Given the description of an element on the screen output the (x, y) to click on. 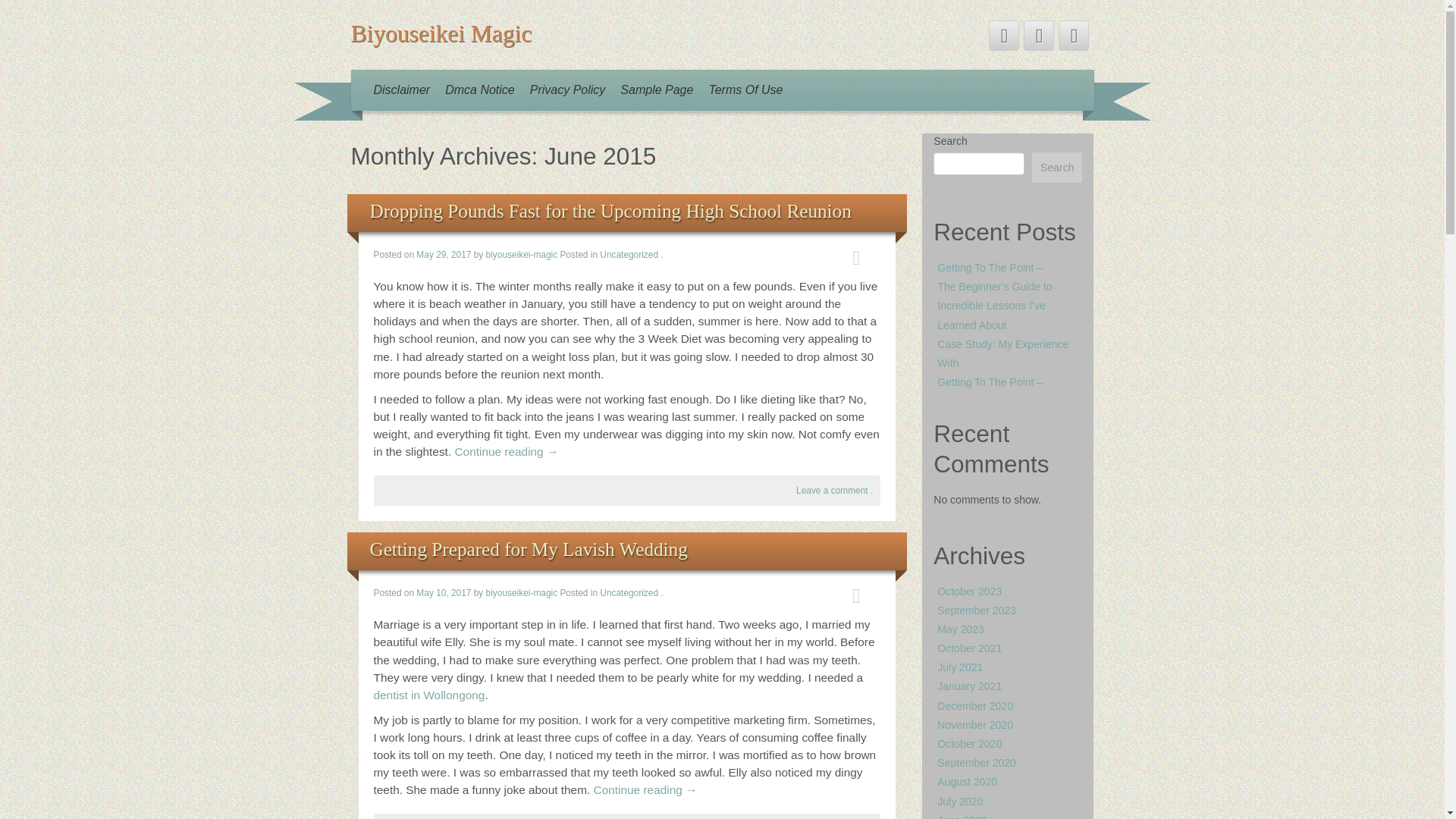
Biyouseikei Magic (440, 33)
August 2020 (967, 781)
October 2021 (969, 648)
Sample Page (656, 89)
Getting Prepared for My Lavish Wedding (528, 548)
View all posts by biyouseikei-magic (521, 593)
Biyouseikei Magic (440, 33)
4:30 am (444, 254)
Permalink to Getting Prepared for My Lavish Wedding (528, 548)
May 29, 2017 (444, 254)
12:30 pm (444, 593)
Terms Of Use (745, 89)
October 2020 (969, 743)
December 2020 (975, 705)
